Given the description of an element on the screen output the (x, y) to click on. 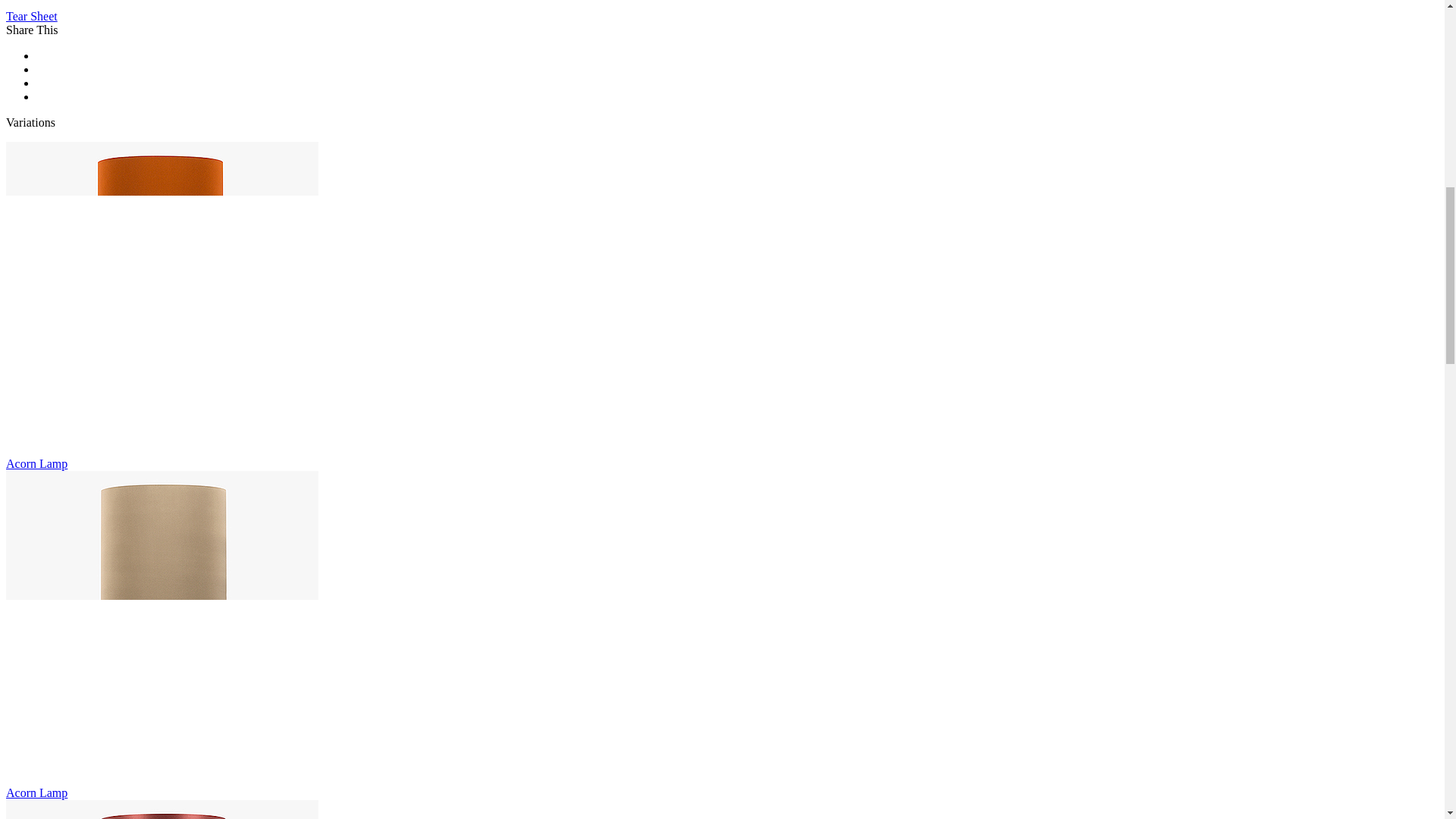
Acorn Lamp (161, 297)
Acorn Lamp (161, 809)
Acorn Lamp (161, 626)
